Given the description of an element on the screen output the (x, y) to click on. 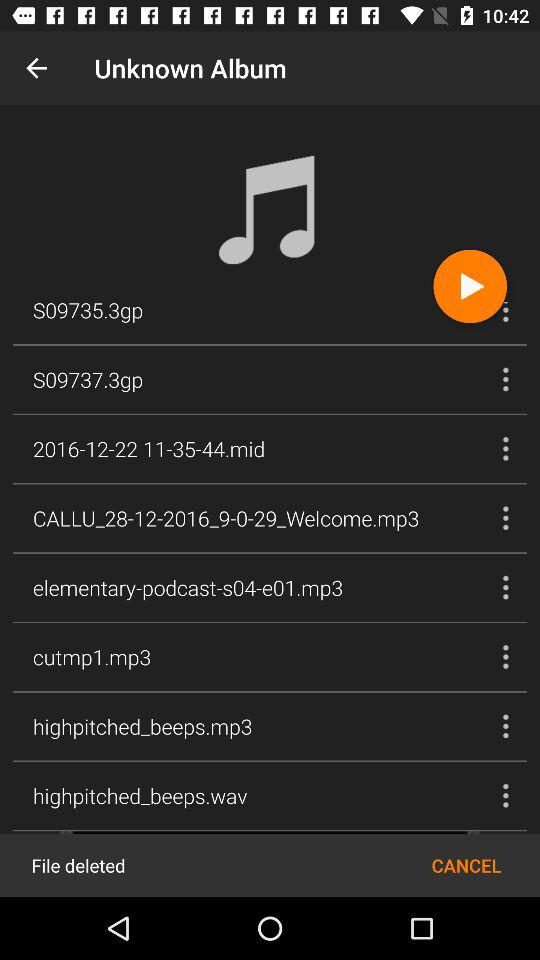
restore file (270, 864)
